Given the description of an element on the screen output the (x, y) to click on. 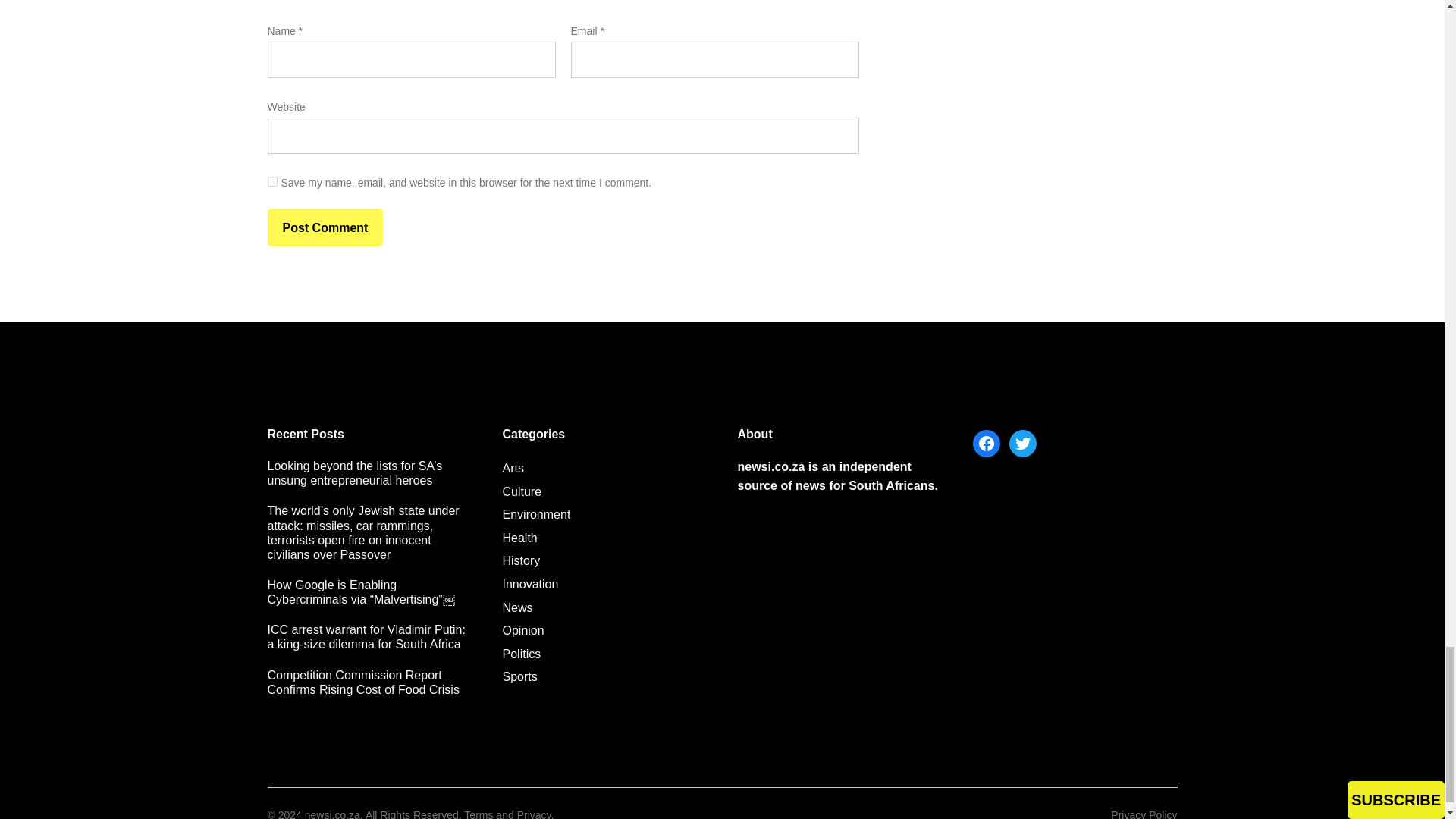
yes (271, 181)
Post Comment (324, 227)
Post Comment (324, 227)
